Given the description of an element on the screen output the (x, y) to click on. 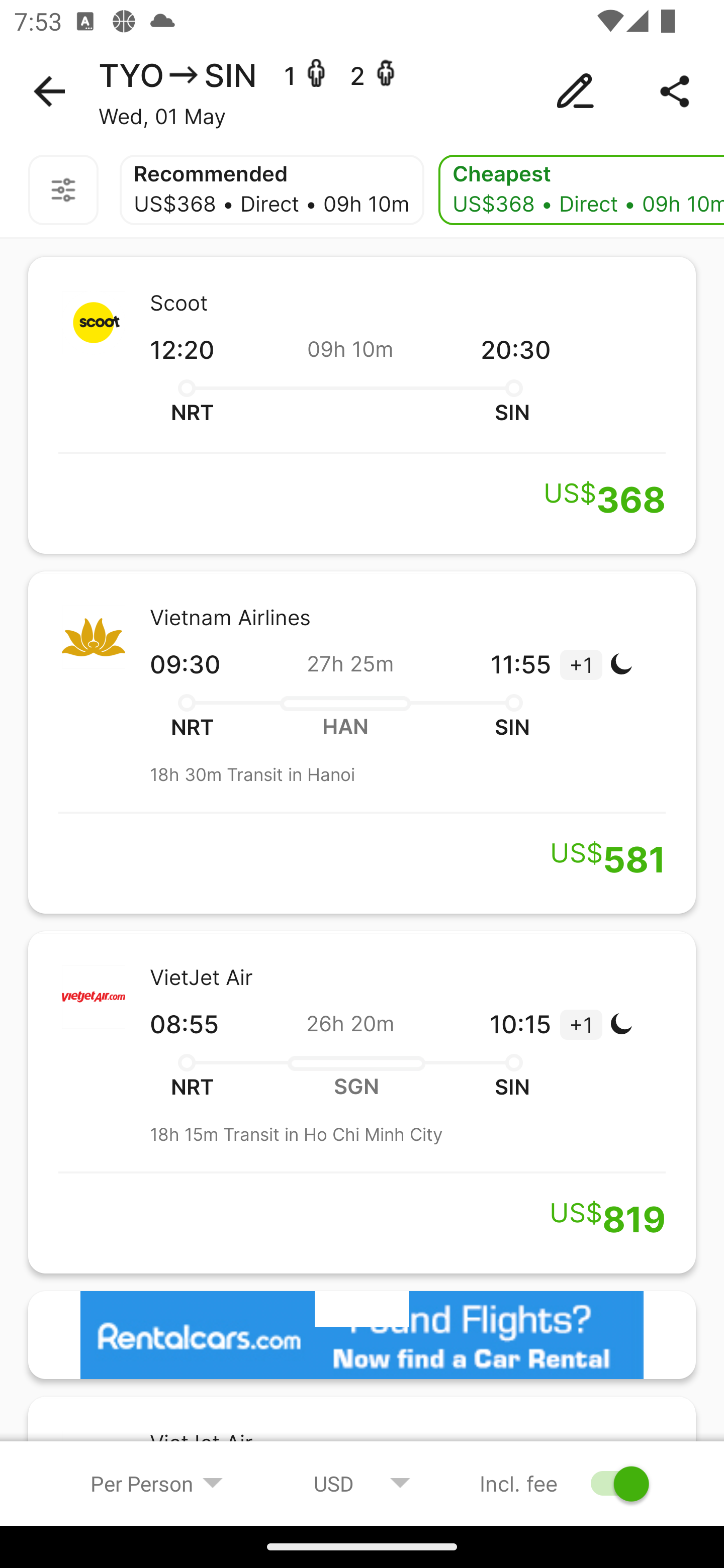
TYO SIN   1 -   2 - Wed, 01 May (361, 91)
Recommended  US$368 • Direct • 09h 10m (271, 190)
Cheapest US$368 • Direct • 09h 10m (581, 190)
Scoot 12:20 09h 10m 20:30 NRT SIN (361, 405)
%3FaffiliateCode%3Dwego882 (361, 1334)
Per Person (156, 1482)
USD (361, 1482)
